Given the description of an element on the screen output the (x, y) to click on. 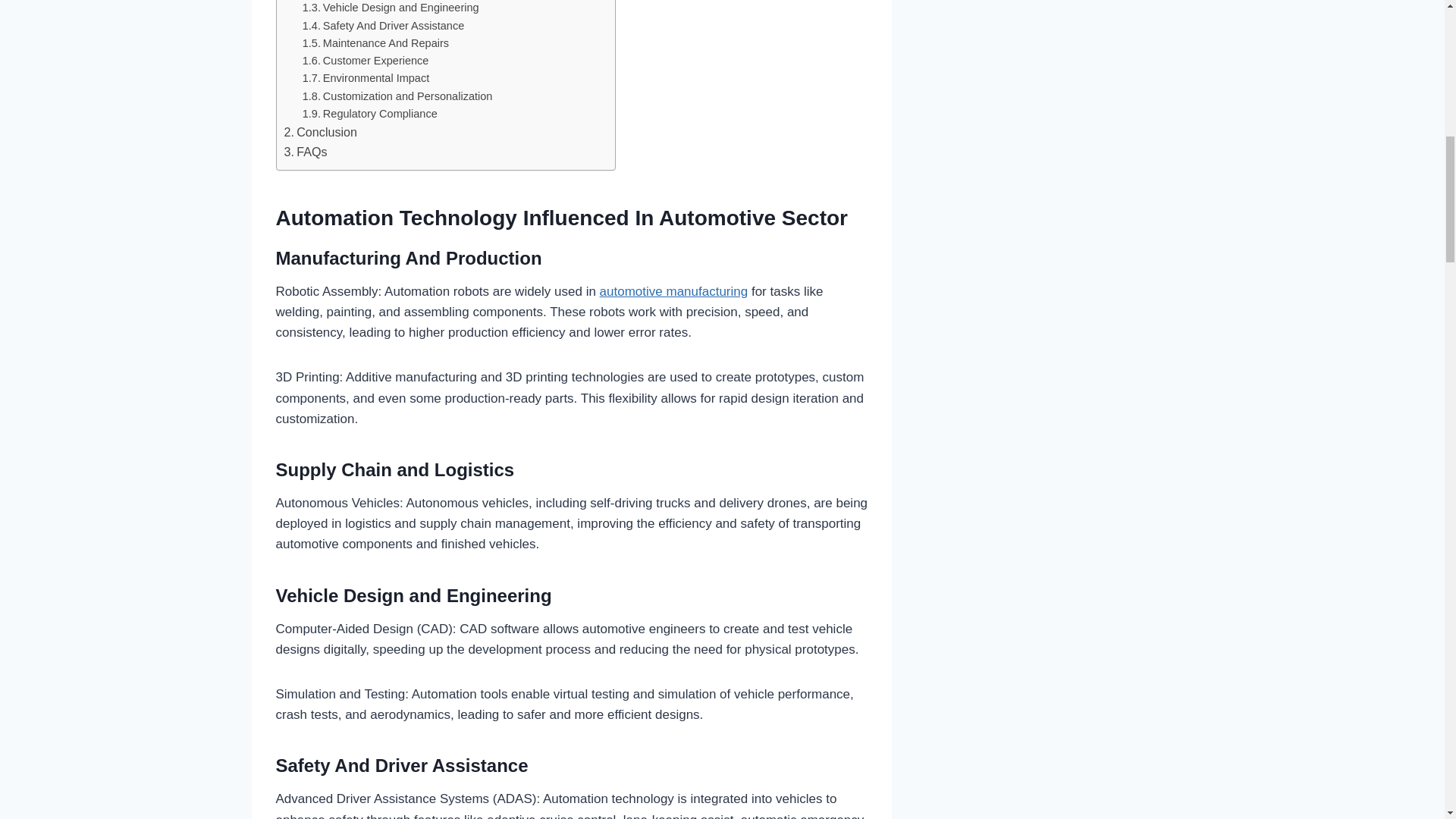
Maintenance And Repairs (375, 43)
Maintenance And Repairs (375, 43)
automotive manufacturing (673, 291)
Vehicle Design and Engineering (390, 8)
FAQs (304, 152)
Safety And Driver Assistance (383, 26)
Environmental Impact (365, 77)
Conclusion (319, 132)
Customization and Personalization (397, 96)
Environmental Impact (365, 77)
Customer Experience (365, 60)
Conclusion (319, 132)
FAQs (304, 152)
Customer Experience (365, 60)
Regulatory Compliance (370, 113)
